Given the description of an element on the screen output the (x, y) to click on. 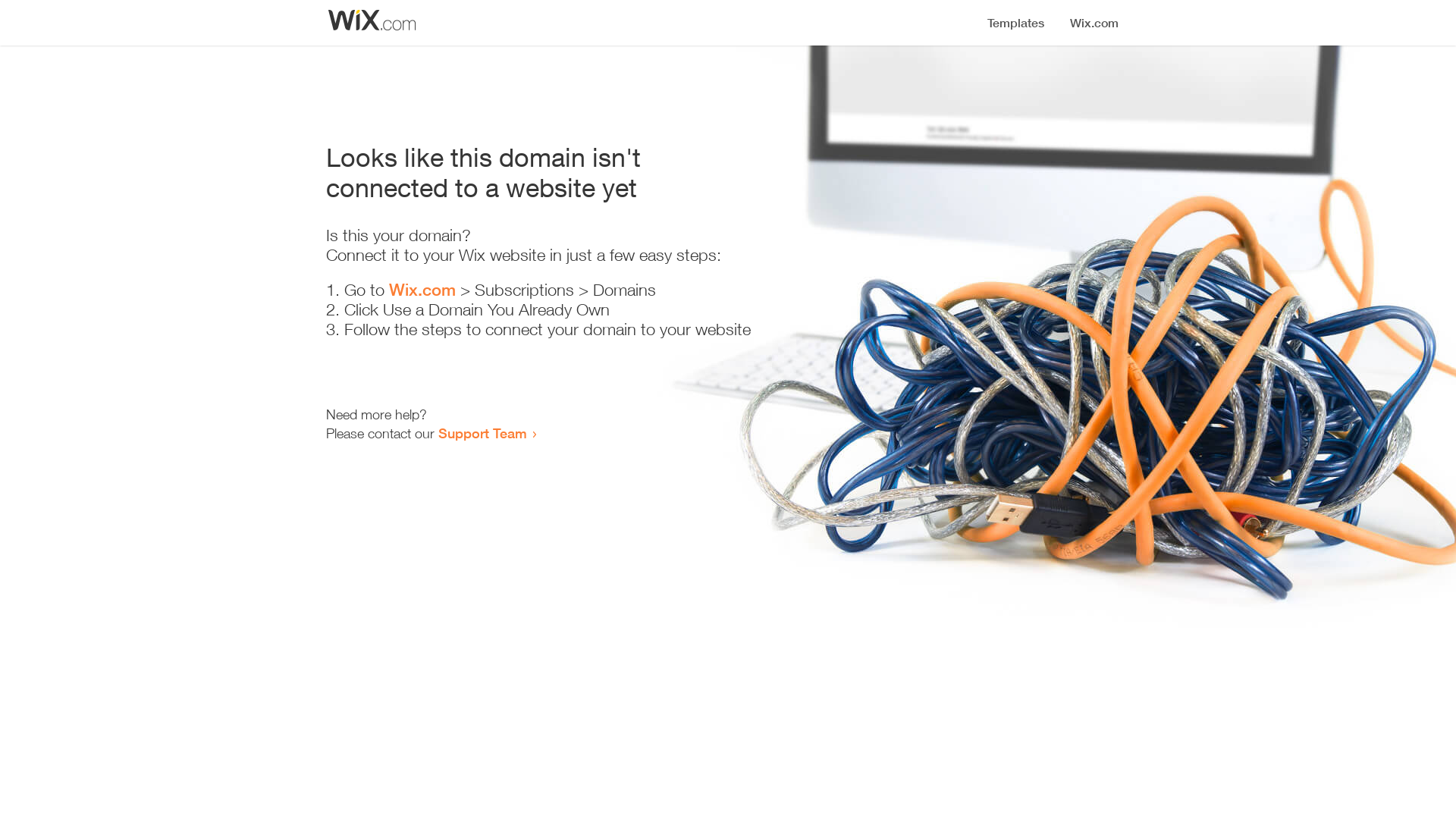
Support Team Element type: text (482, 432)
Wix.com Element type: text (422, 289)
